Given the description of an element on the screen output the (x, y) to click on. 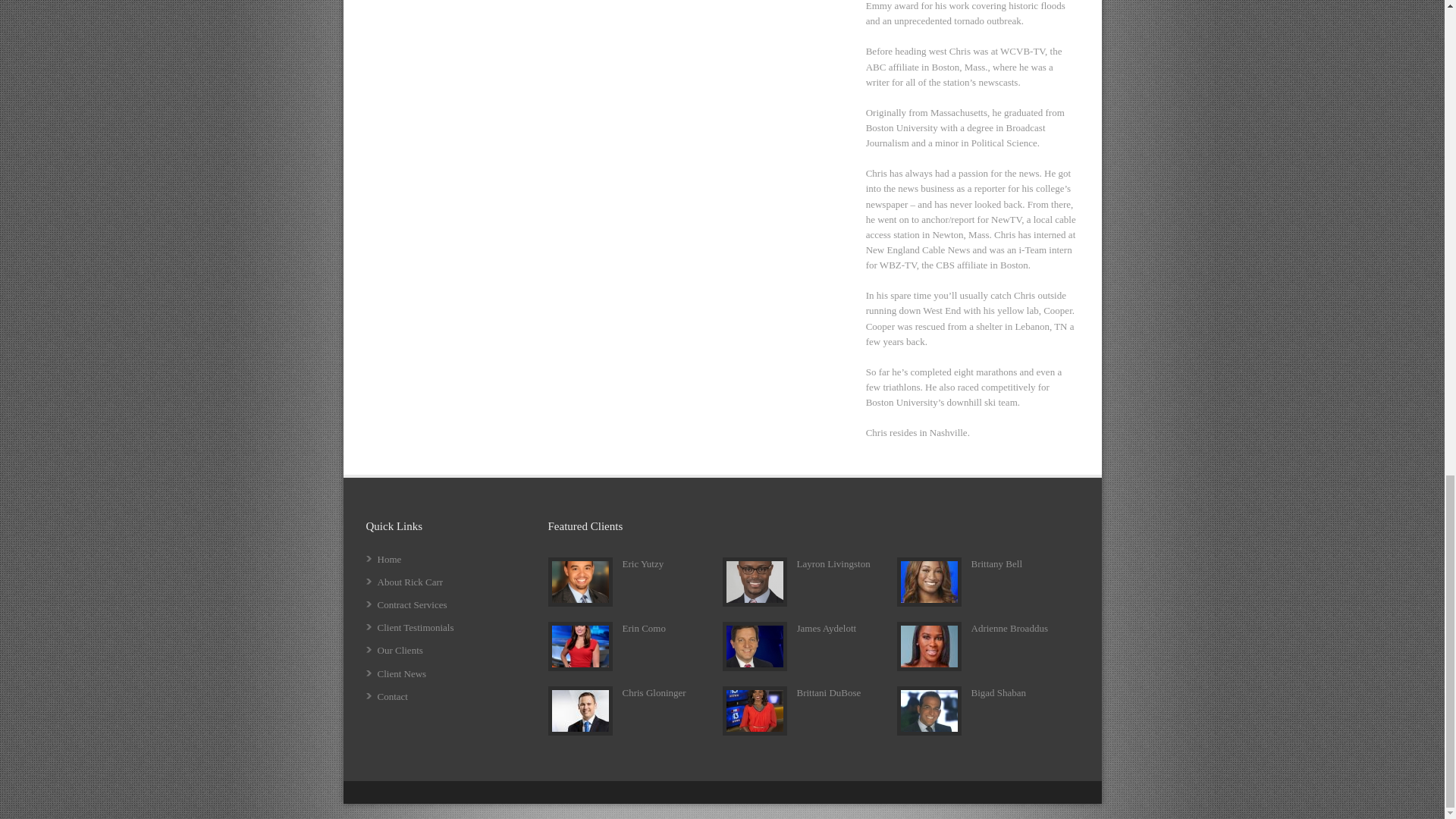
Adrienne Broaddus (1008, 627)
Layron Livingston (832, 563)
James Aydelott (826, 627)
Chris Gloninger (653, 692)
Home (389, 559)
Eric Yutzy (642, 563)
Our Clients (400, 650)
Erin Como (643, 627)
Client Testimonials (415, 627)
About Rick Carr (410, 582)
Brittany Bell (996, 563)
Client News (401, 673)
Contract Services (411, 604)
Contact (392, 696)
